Given the description of an element on the screen output the (x, y) to click on. 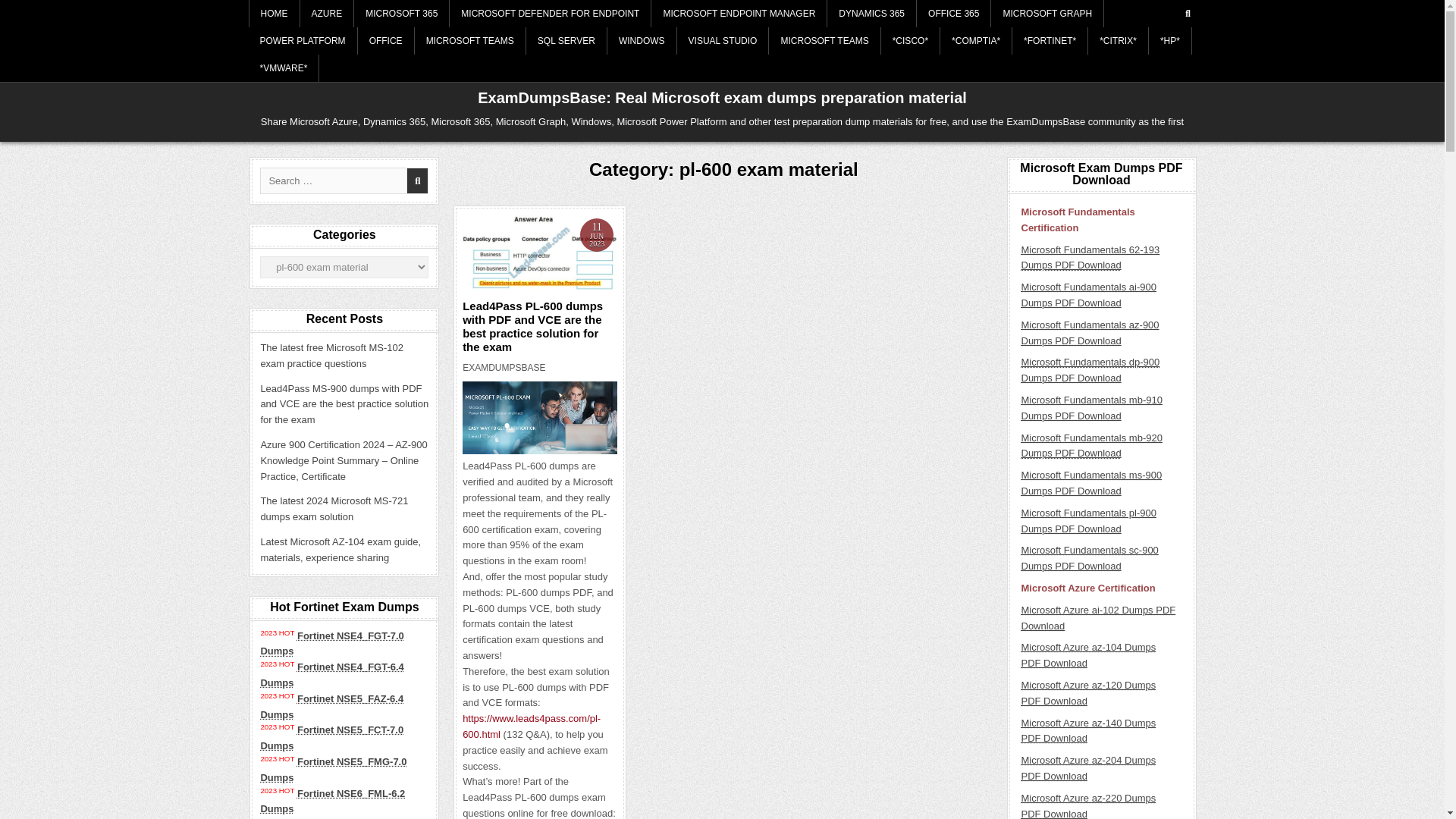
MICROSOFT ENDPOINT MANAGER (738, 13)
Microsoft Azure az-104 Dumps PDF Download (1088, 655)
DYNAMICS 365 (872, 13)
MICROSOFT GRAPH (1047, 13)
Microsoft Fundamentals mb-910 Dumps PDF Download (1090, 407)
SQL SERVER (566, 40)
Microsoft Fundamentals sc-900 Dumps PDF Download (1088, 557)
MICROSOFT 365 (401, 13)
Microsoft Fundamentals az-900 Dumps PDF Download (1089, 332)
MICROSOFT TEAMS (824, 40)
Microsoft Fundamentals ms-900 Dumps PDF Download (1090, 482)
HOME (273, 13)
